Given the description of an element on the screen output the (x, y) to click on. 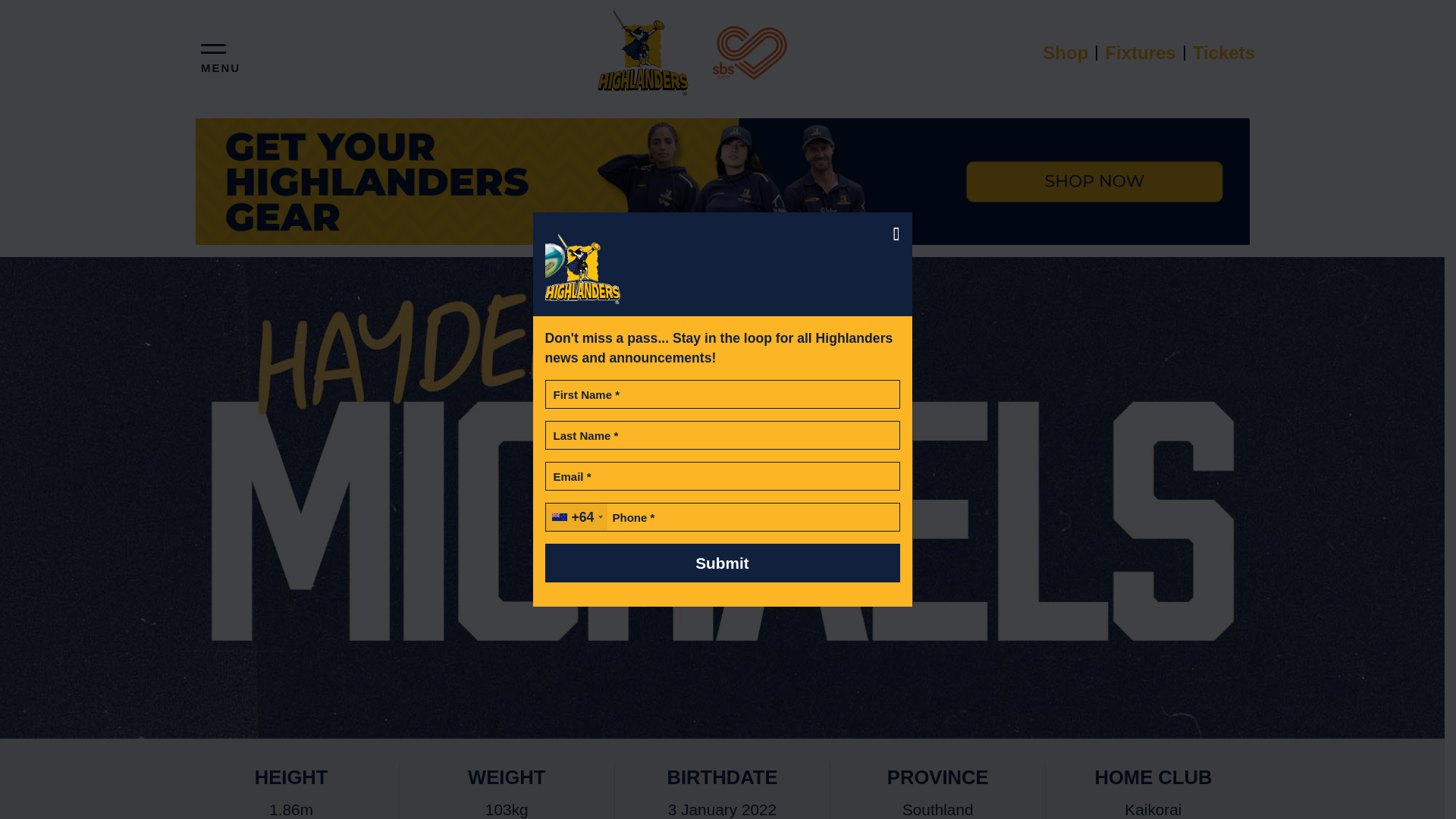
Fixtures (1141, 52)
Submit (721, 562)
Shop (1066, 52)
Tickets (1220, 52)
